Given the description of an element on the screen output the (x, y) to click on. 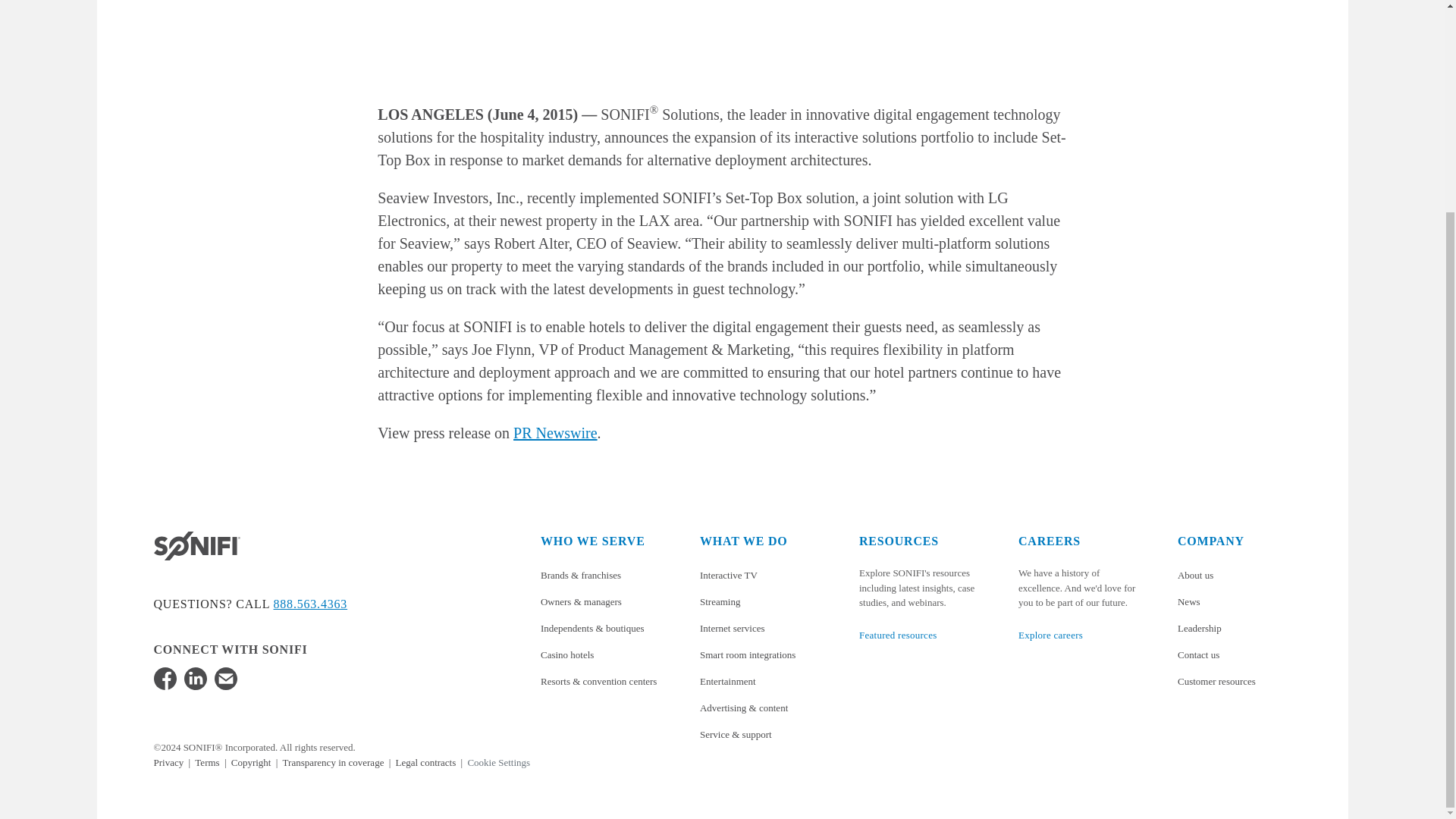
Visit us on LinkedIn (194, 678)
888.563.4363 (310, 603)
Email Us (224, 678)
Visit us on Facebook (164, 678)
PR Newswire (554, 433)
